Given the description of an element on the screen output the (x, y) to click on. 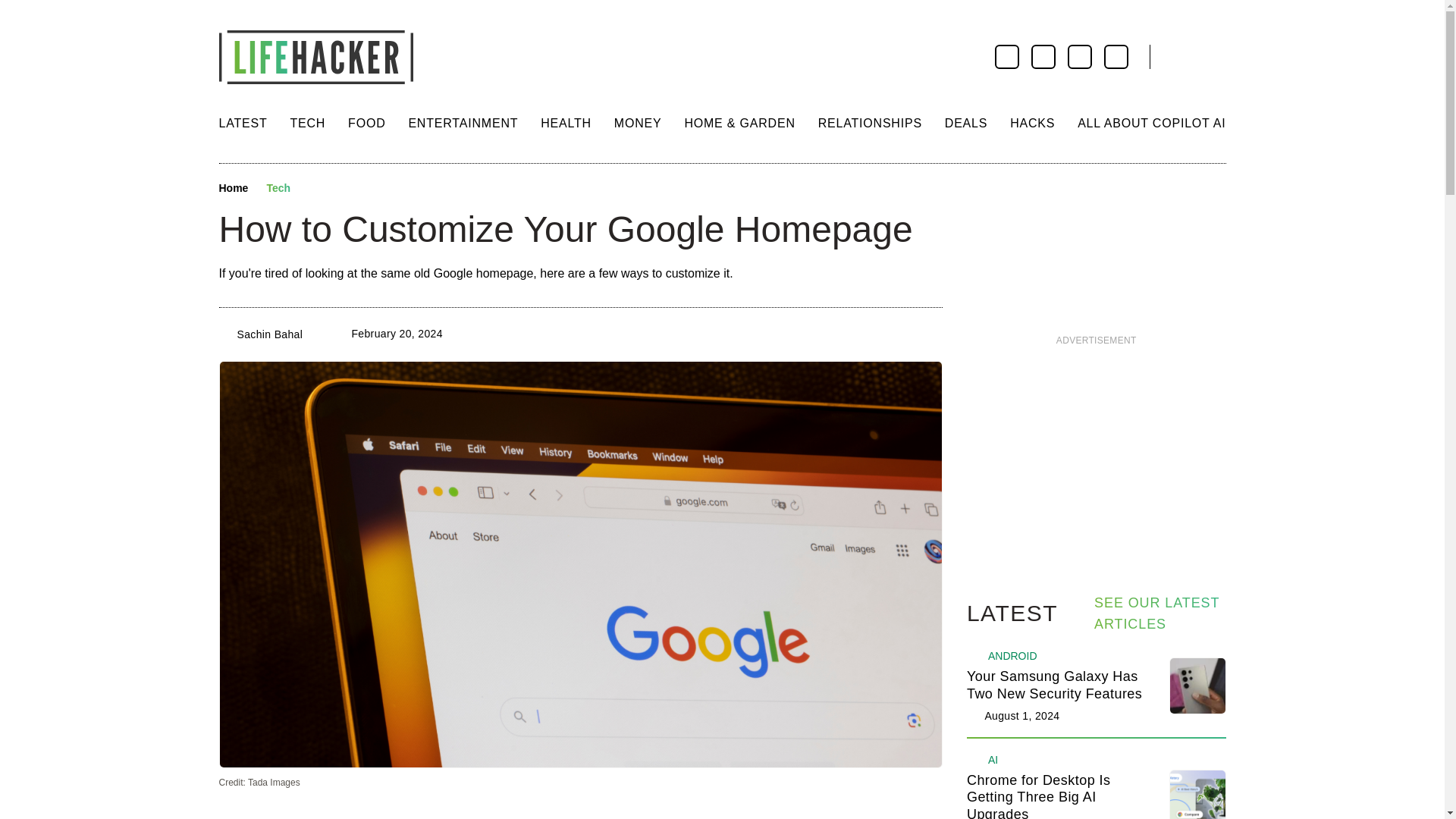
ALL ABOUT COPILOT AI (1151, 123)
TECH (306, 123)
LATEST (242, 123)
MONEY (638, 123)
Home (232, 188)
DEALS (965, 123)
FOOD (366, 123)
RELATIONSHIPS (869, 123)
HEALTH (565, 123)
ENTERTAINMENT (462, 123)
Tech (277, 188)
HACKS (1032, 123)
